Given the description of an element on the screen output the (x, y) to click on. 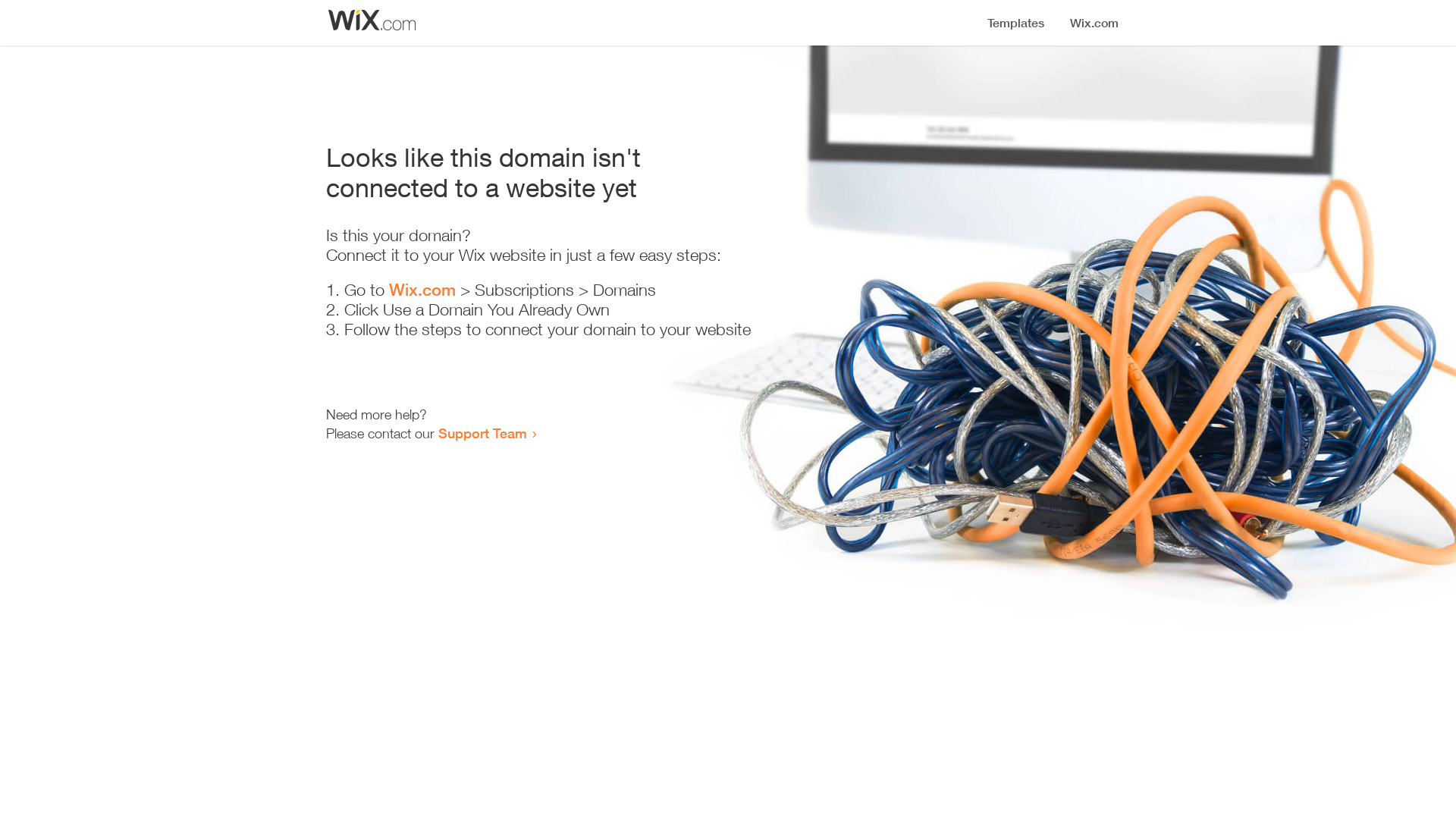
Support Team Element type: text (482, 432)
Wix.com Element type: text (422, 289)
